Given the description of an element on the screen output the (x, y) to click on. 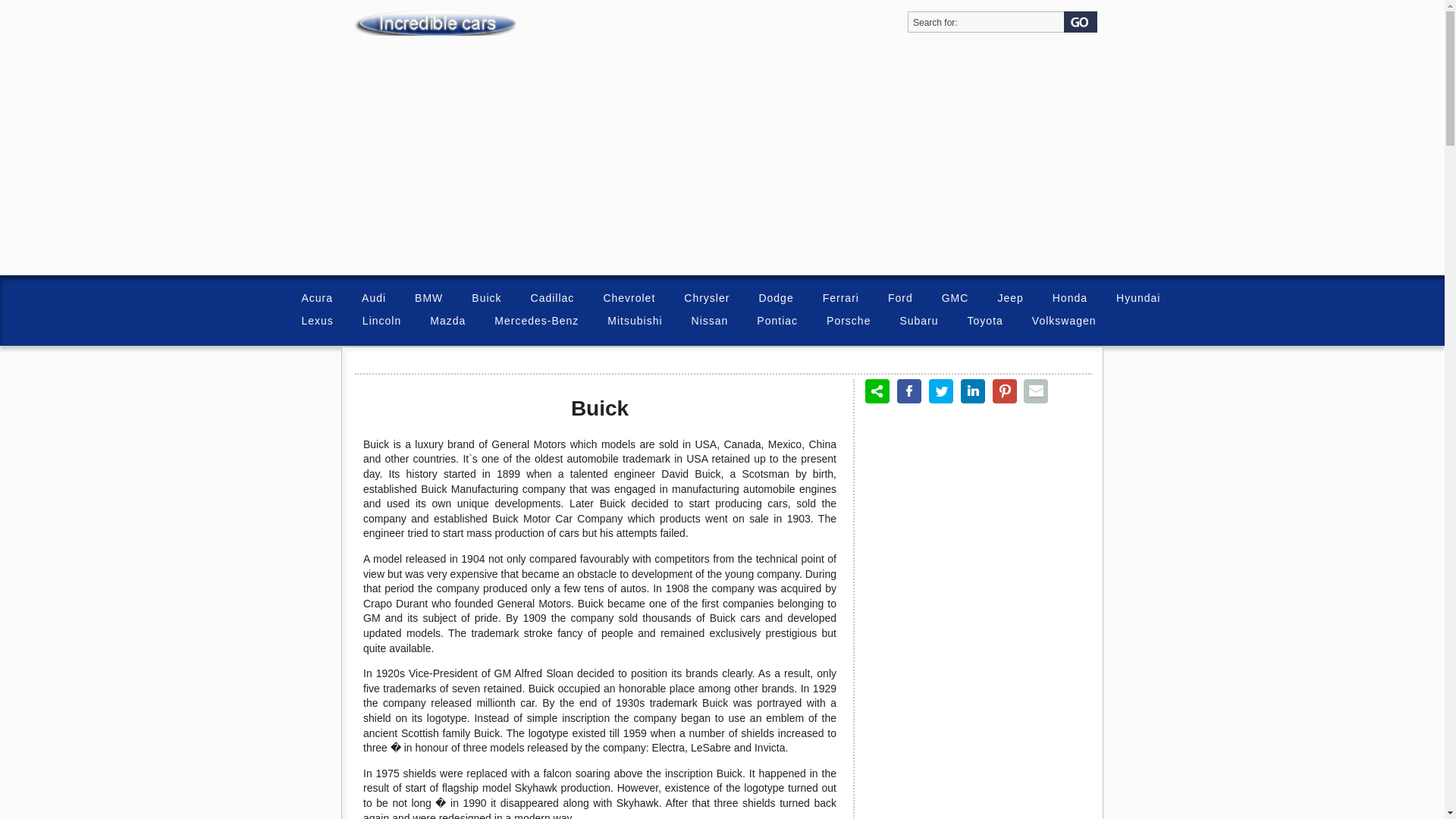
Toyota (985, 321)
Nissan (709, 321)
Hyundai (1137, 298)
Dodge (775, 298)
Search for: (984, 20)
Porsche (847, 321)
Mitsubishi (634, 321)
Search for: (984, 20)
Jeep (1009, 298)
Lexus (316, 321)
Acura (316, 298)
Search (1082, 23)
Mercedes-Benz (536, 321)
BMW (428, 298)
